Given the description of an element on the screen output the (x, y) to click on. 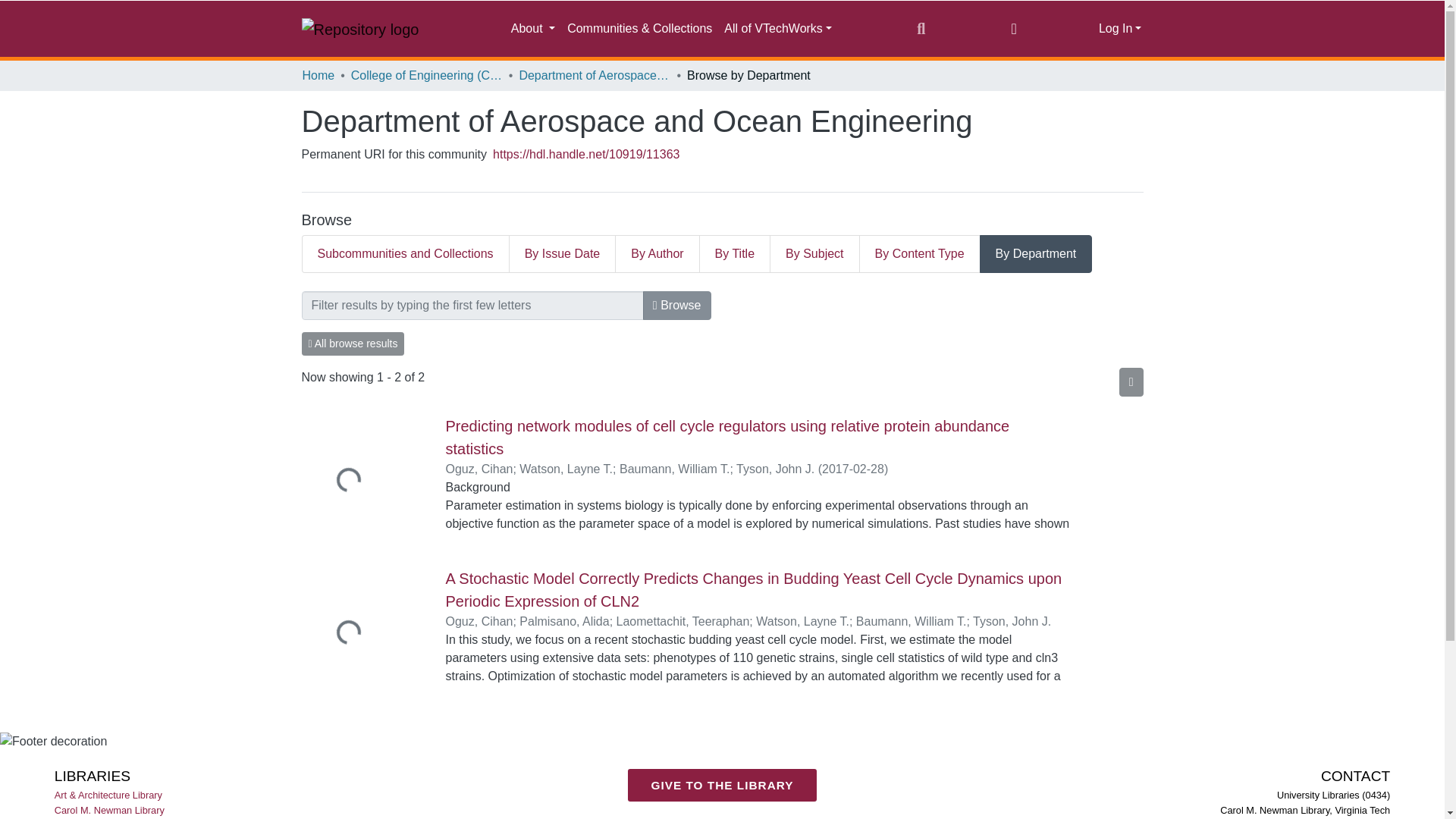
Search (920, 28)
By Content Type (919, 253)
Home (317, 75)
Log In (1119, 28)
By Department (1036, 253)
About (532, 28)
All browse results (352, 343)
Subcommunities and Collections (405, 253)
By Author (656, 253)
All of VTechWorks (777, 28)
